Given the description of an element on the screen output the (x, y) to click on. 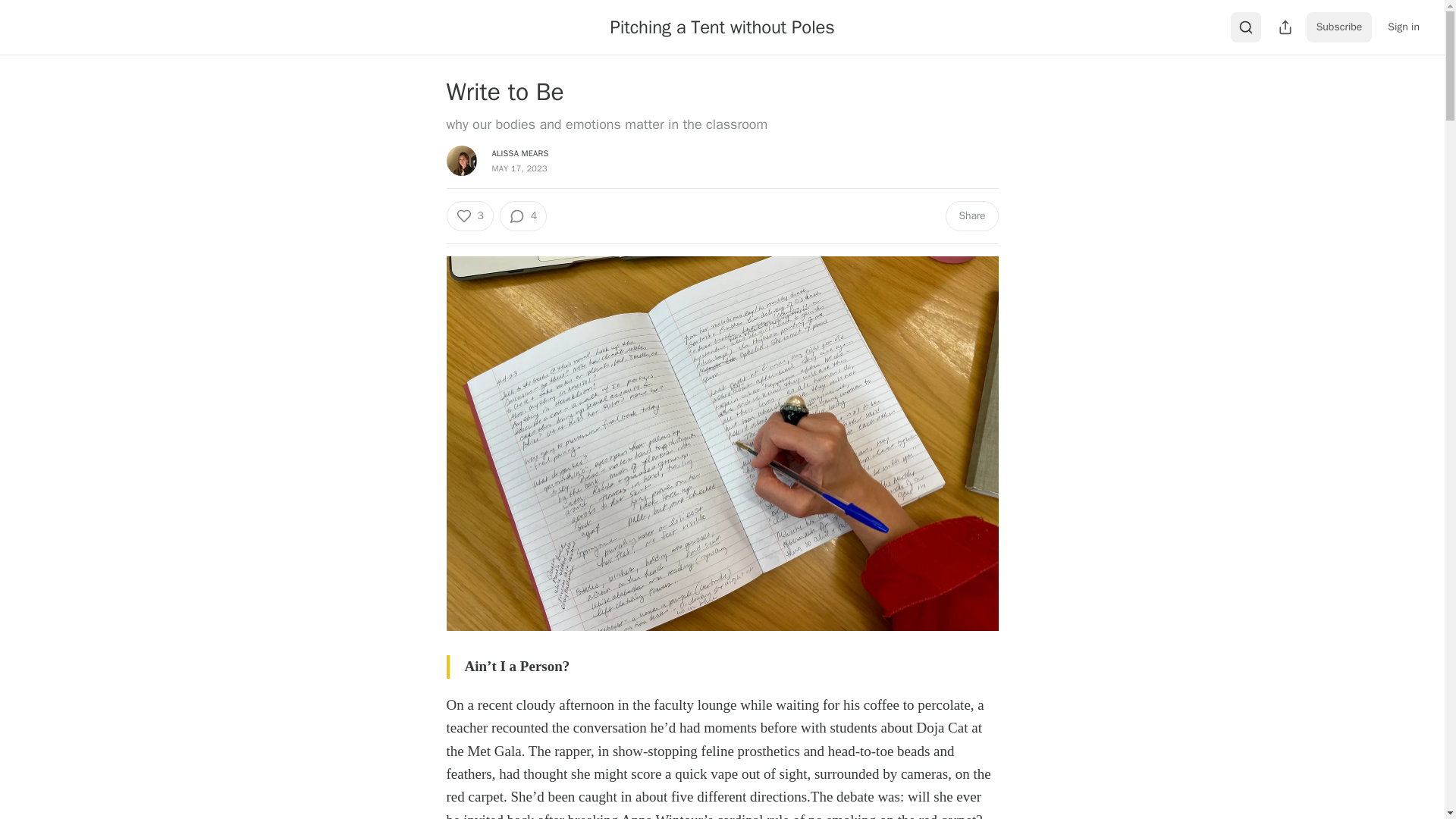
3 (469, 215)
4 (523, 215)
Sign in (1403, 27)
Share (970, 215)
ALISSA MEARS (520, 153)
Pitching a Tent without Poles (722, 26)
Subscribe (1339, 27)
